Given the description of an element on the screen output the (x, y) to click on. 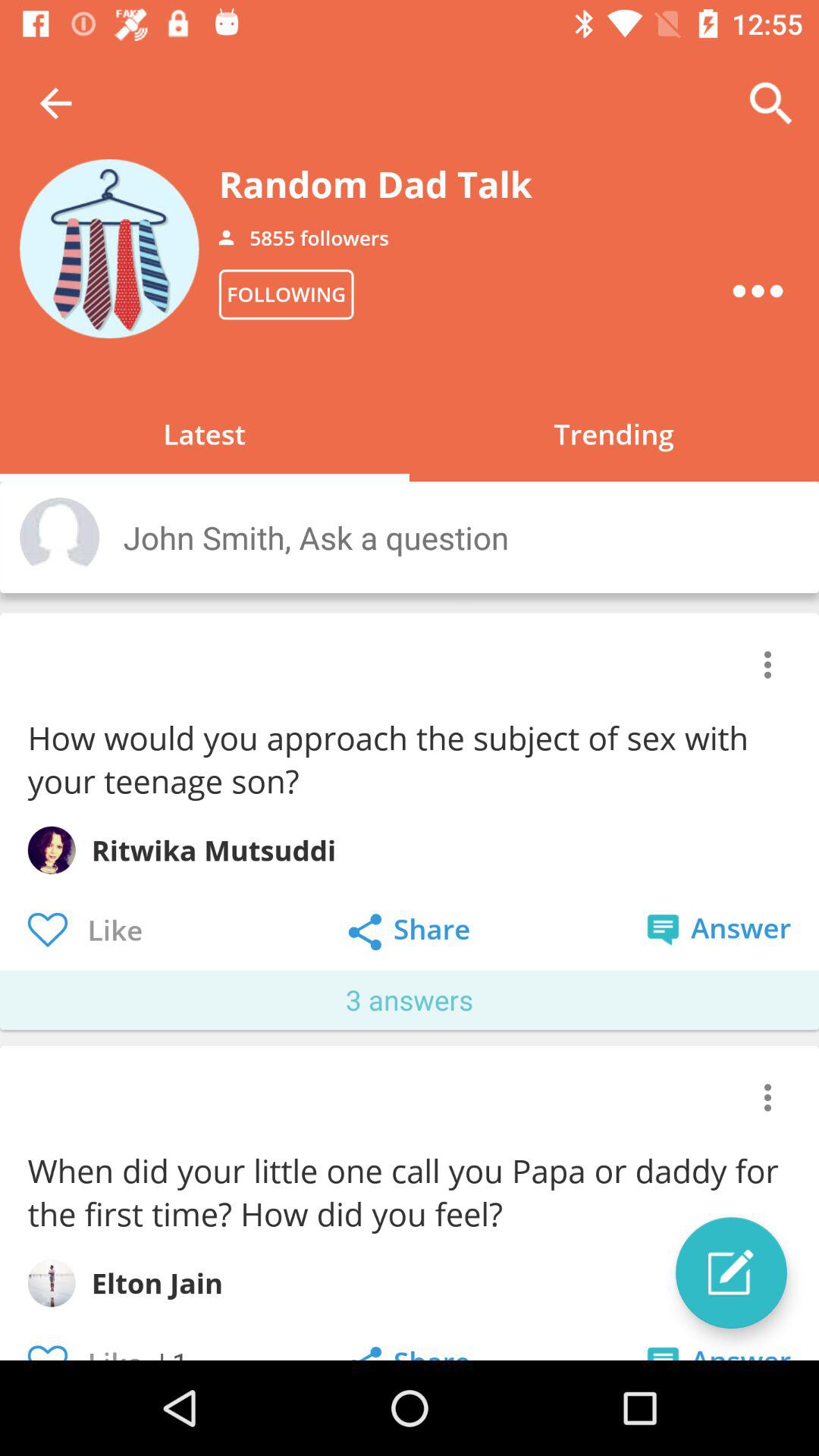
click the item above the when did your (767, 1097)
